Given the description of an element on the screen output the (x, y) to click on. 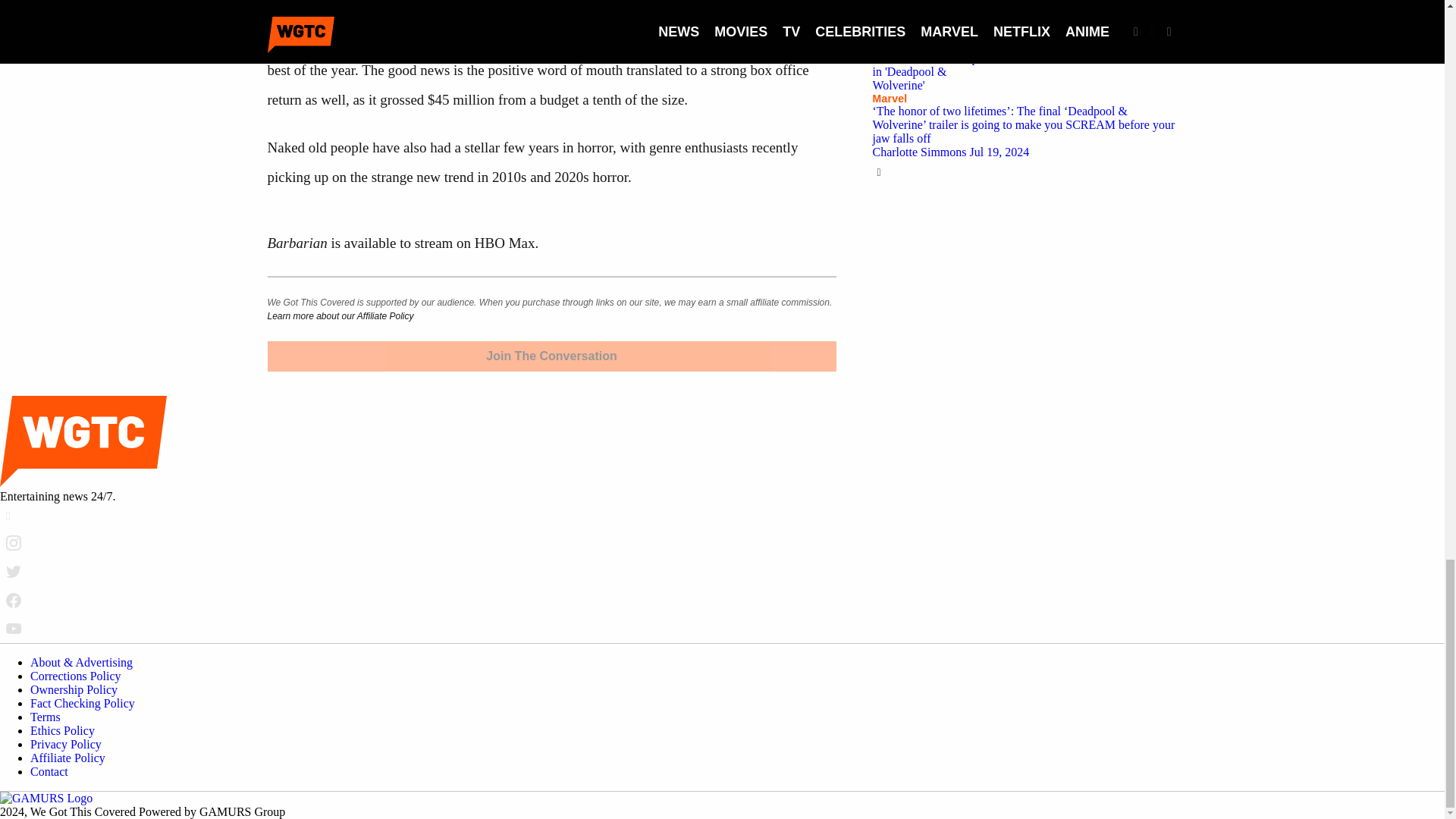
Join The Conversation (550, 356)
